Given the description of an element on the screen output the (x, y) to click on. 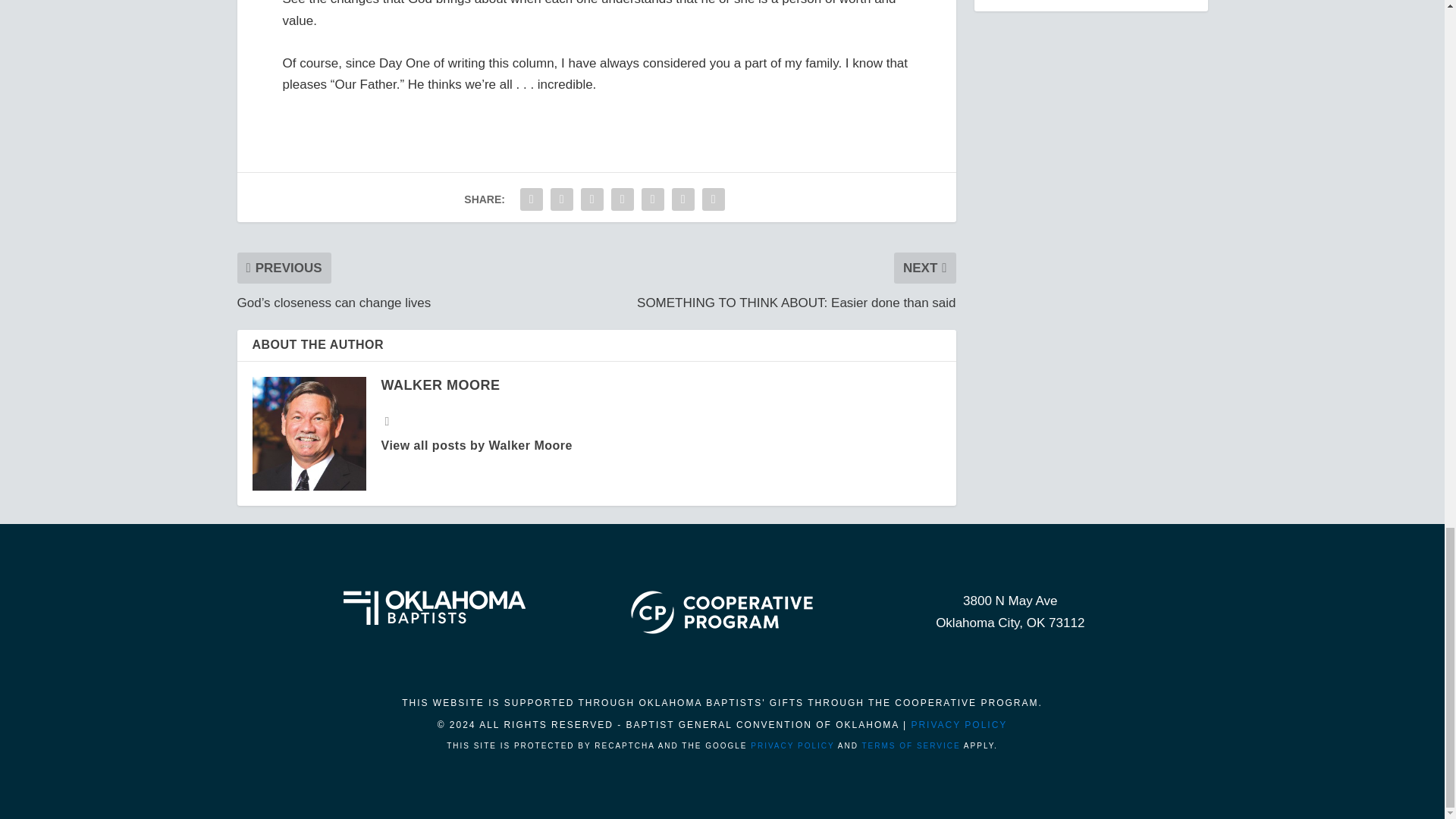
Share "RITE OF PASSAGE: The Incredibles" via Facebook (531, 199)
View all posts by Walker Moore (476, 445)
Share "RITE OF PASSAGE: The Incredibles" via LinkedIn (652, 199)
Share "RITE OF PASSAGE: The Incredibles" via Email (683, 199)
Share "RITE OF PASSAGE: The Incredibles" via Print (713, 199)
Share "RITE OF PASSAGE: The Incredibles" via Pinterest (622, 199)
Share "RITE OF PASSAGE: The Incredibles" via Twitter (561, 199)
View all posts by Walker Moore (439, 385)
